Given the description of an element on the screen output the (x, y) to click on. 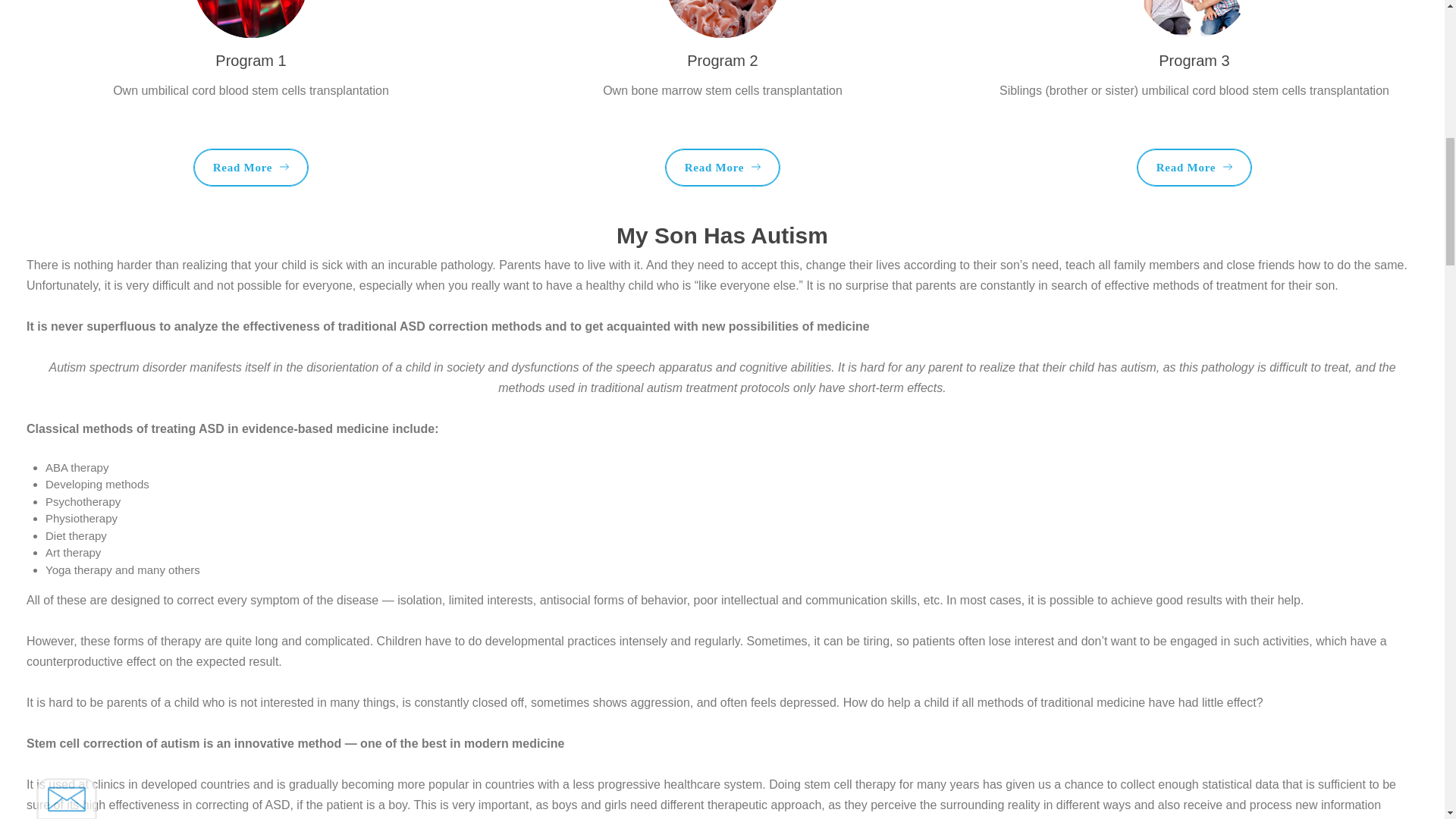
Send (80, 257)
Unknown (54, 158)
